Given the description of an element on the screen output the (x, y) to click on. 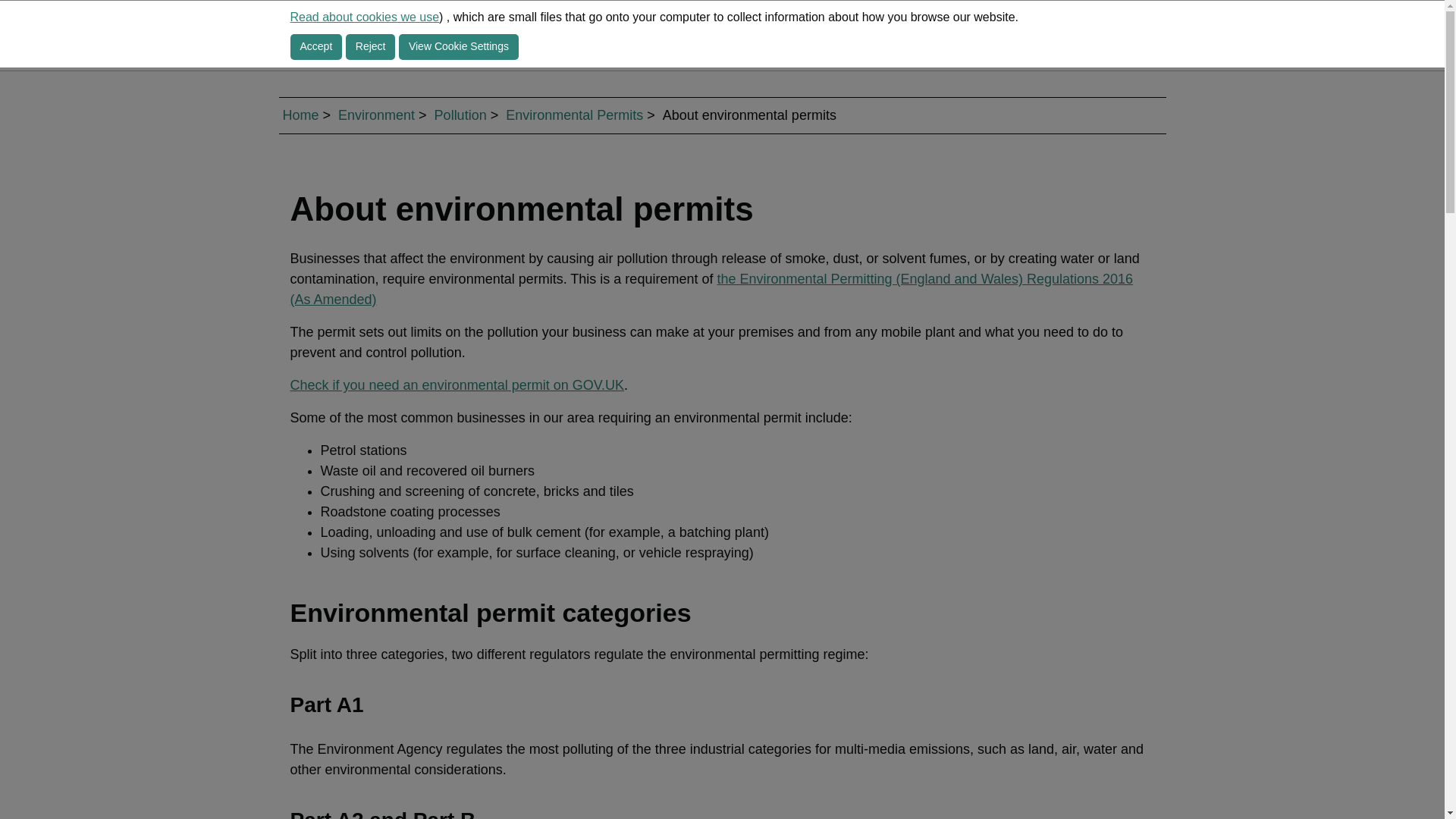
Services (649, 35)
Home (300, 114)
Reject (371, 46)
Pollution (459, 114)
Check if you need an environmental permit: GOV.UK (456, 385)
Breadcrumbs (722, 115)
View Cookie Settings (458, 46)
Contact us (755, 35)
Environmental Permits (574, 114)
Environment (375, 114)
Accept (315, 46)
About environmental permits (710, 289)
Check if you need an environmental permit on GOV.UK (456, 385)
Apply (1114, 35)
Read about cookies we use (364, 16)
